Given the description of an element on the screen output the (x, y) to click on. 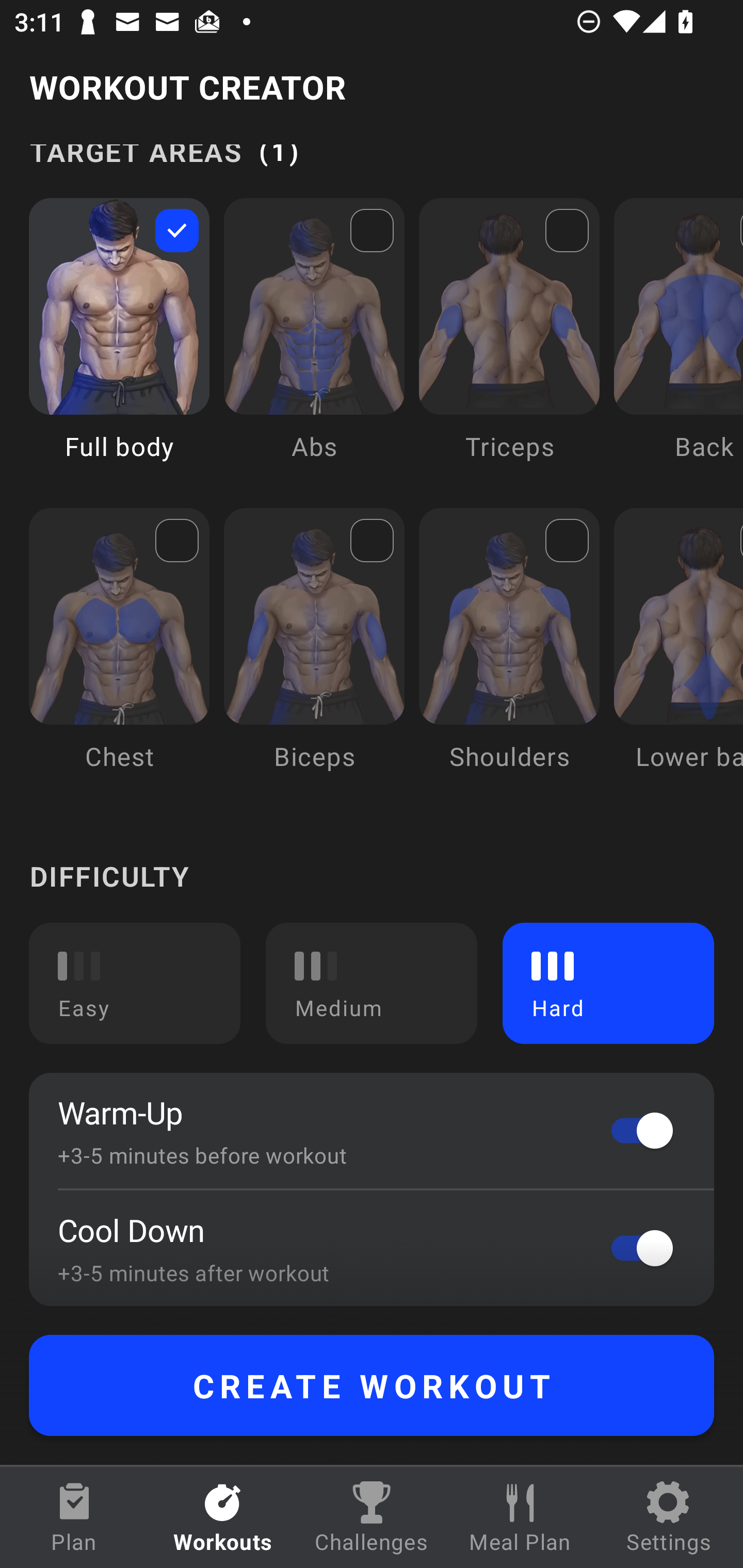
Abs (313, 343)
Triceps (509, 343)
Back (678, 343)
Chest (118, 653)
Biceps (313, 653)
Shoulders (509, 653)
Lower back (678, 653)
Easy (134, 982)
Medium (371, 982)
CREATE WORKOUT (371, 1385)
 Plan  (74, 1517)
 Challenges  (371, 1517)
 Meal Plan  (519, 1517)
 Settings  (668, 1517)
